Given the description of an element on the screen output the (x, y) to click on. 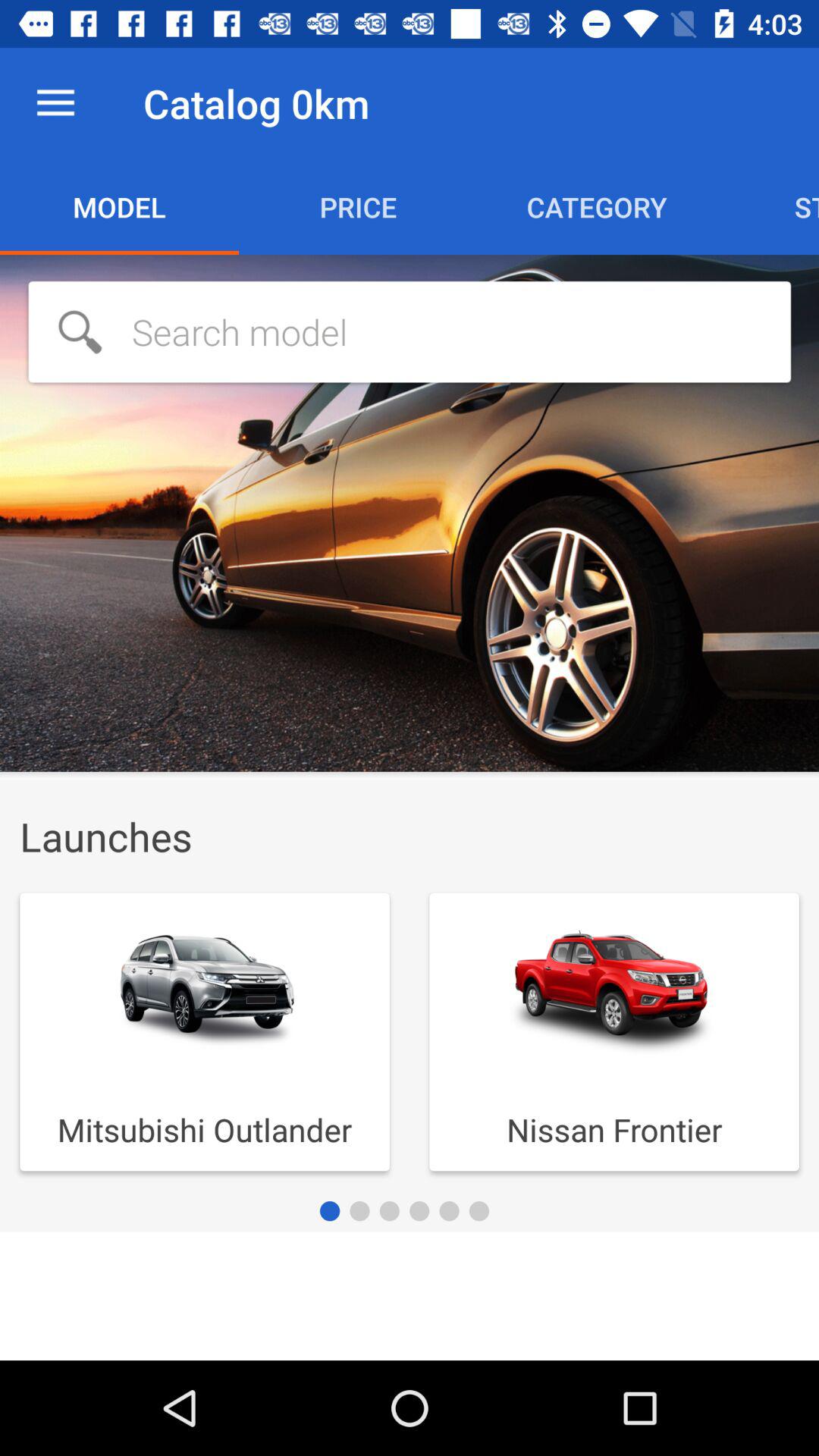
launch item above model (55, 103)
